Given the description of an element on the screen output the (x, y) to click on. 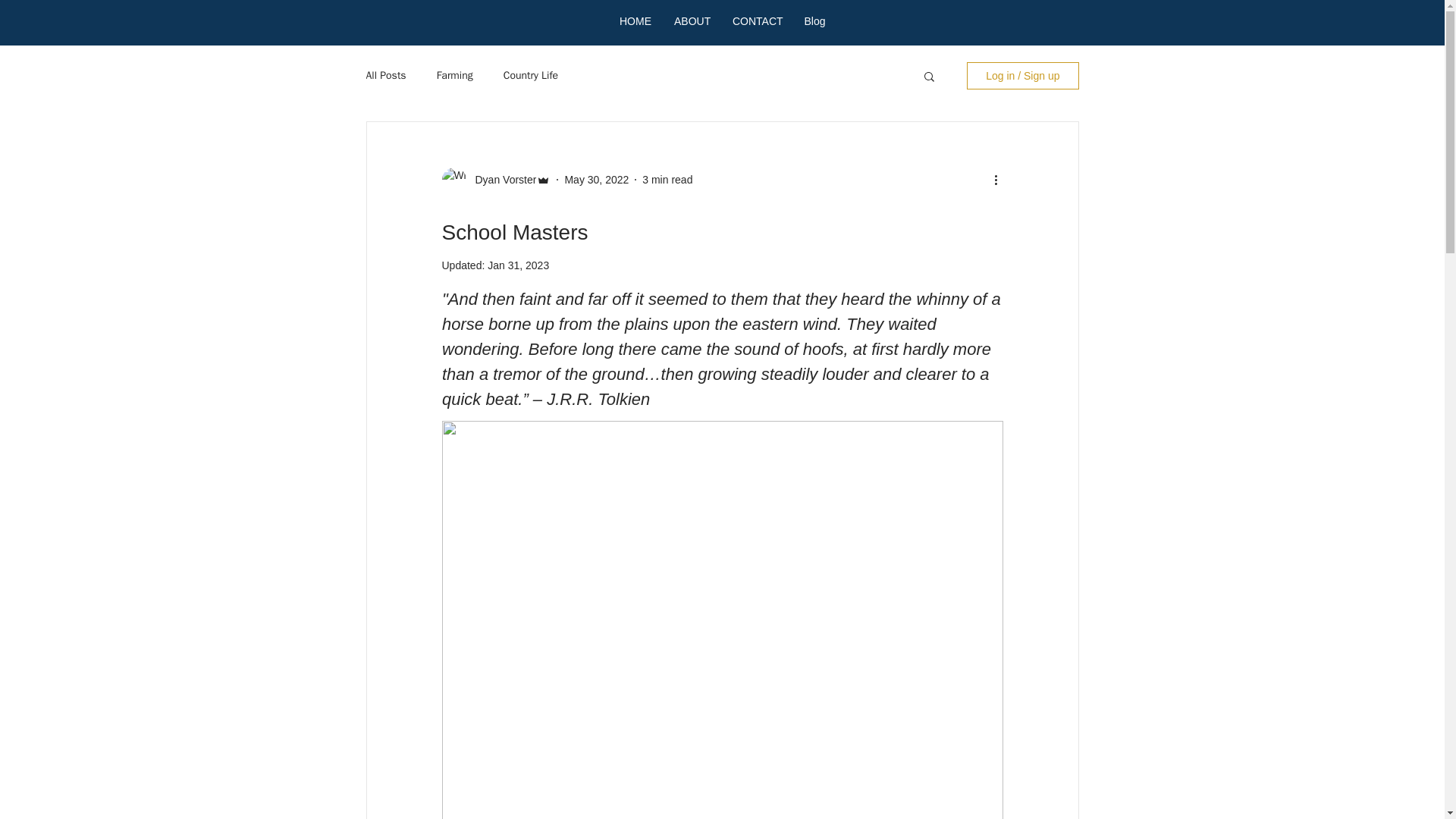
Country Life (530, 75)
All Posts (385, 75)
HOME (635, 21)
3 min read (667, 178)
Dyan Vorster (500, 179)
CONTACT (756, 21)
Jan 31, 2023 (517, 265)
Farming (454, 75)
Blog (814, 21)
ABOUT (691, 21)
